Given the description of an element on the screen output the (x, y) to click on. 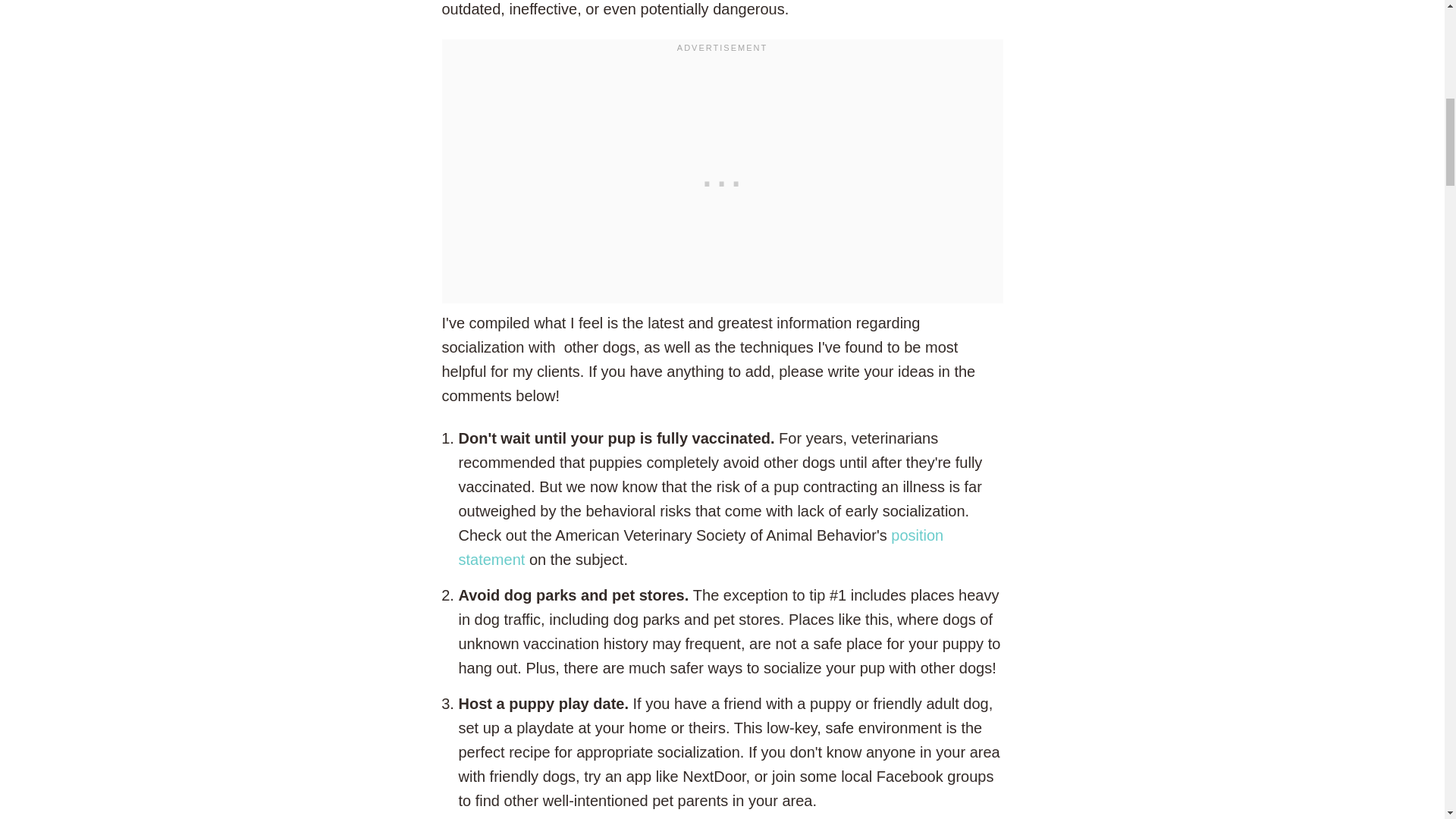
position statement (700, 547)
